Given the description of an element on the screen output the (x, y) to click on. 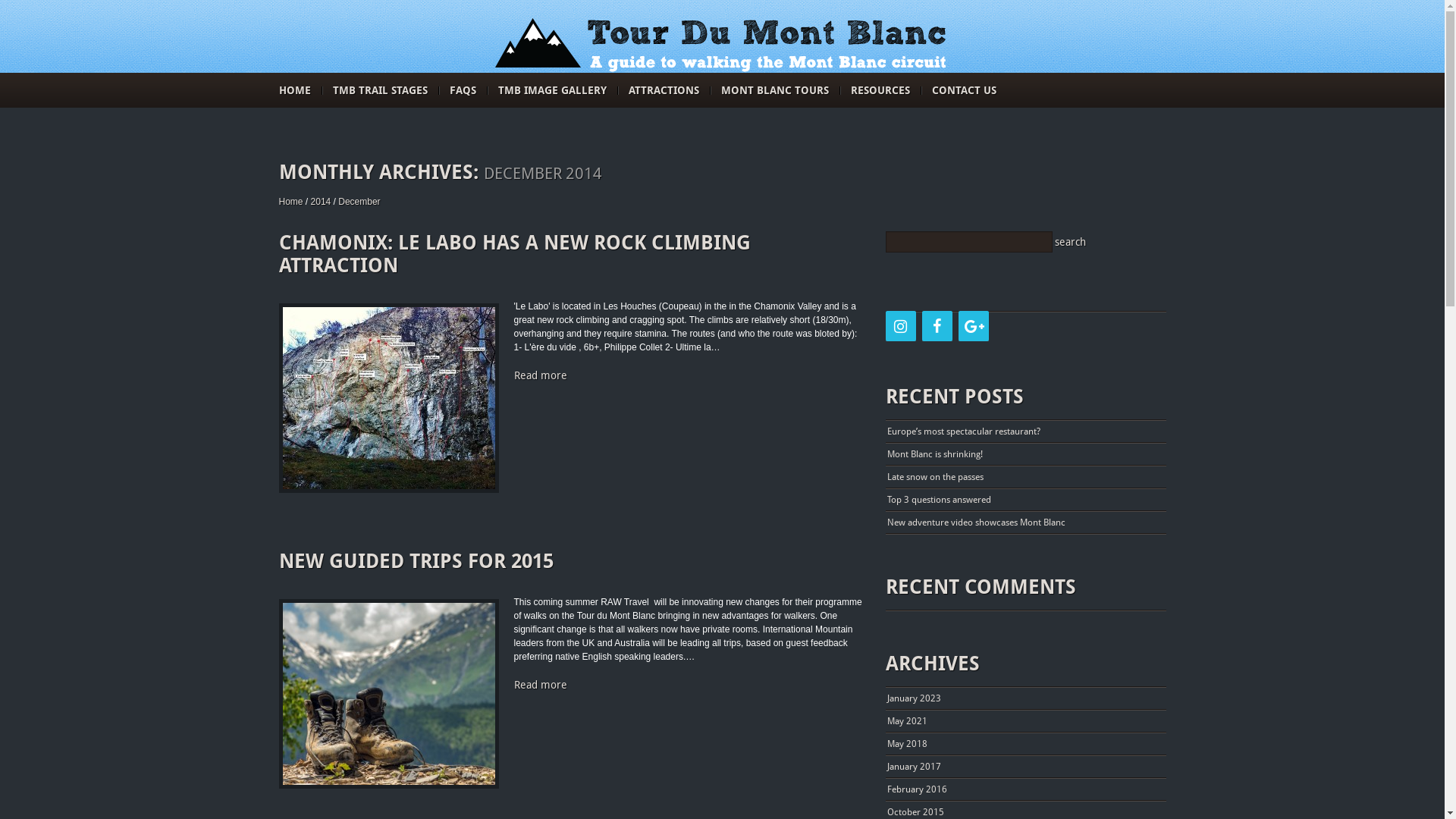
Top 3 questions answered Element type: text (939, 499)
FAQS Element type: text (461, 89)
Instagram Element type: hover (900, 325)
Mont Blanc is shrinking! Element type: text (934, 453)
New guided trips for 2015 Element type: hover (388, 693)
February 2016 Element type: text (917, 789)
HOME Element type: text (294, 89)
Read more Element type: text (541, 374)
January 2017 Element type: text (914, 766)
2014 Element type: text (320, 201)
Home Element type: text (291, 201)
Late snow on the passes Element type: text (935, 476)
ATTRACTIONS Element type: text (662, 89)
CHAMONIX: LE LABO HAS A NEW ROCK CLIMBING ATTRACTION Element type: text (514, 253)
Google+ Element type: hover (973, 325)
TMB IMAGE GALLERY Element type: text (551, 89)
RESOURCES Element type: text (880, 89)
Facebook Element type: hover (937, 325)
January 2023 Element type: text (914, 698)
May 2021 Element type: text (907, 720)
May 2018 Element type: text (907, 743)
NEW GUIDED TRIPS FOR 2015 Element type: text (416, 560)
TMB TRAIL STAGES Element type: text (379, 89)
New adventure video showcases Mont Blanc Element type: text (976, 522)
search Element type: text (1071, 241)
Read more Element type: text (541, 684)
October 2015 Element type: text (915, 811)
MONT BLANC TOURS Element type: text (774, 89)
Chamonix: Le Labo has a new rock climbing attraction Element type: hover (388, 398)
A guide to walking the Mont Blanc Circuit Element type: hover (721, 45)
CONTACT US Element type: text (963, 89)
